Given the description of an element on the screen output the (x, y) to click on. 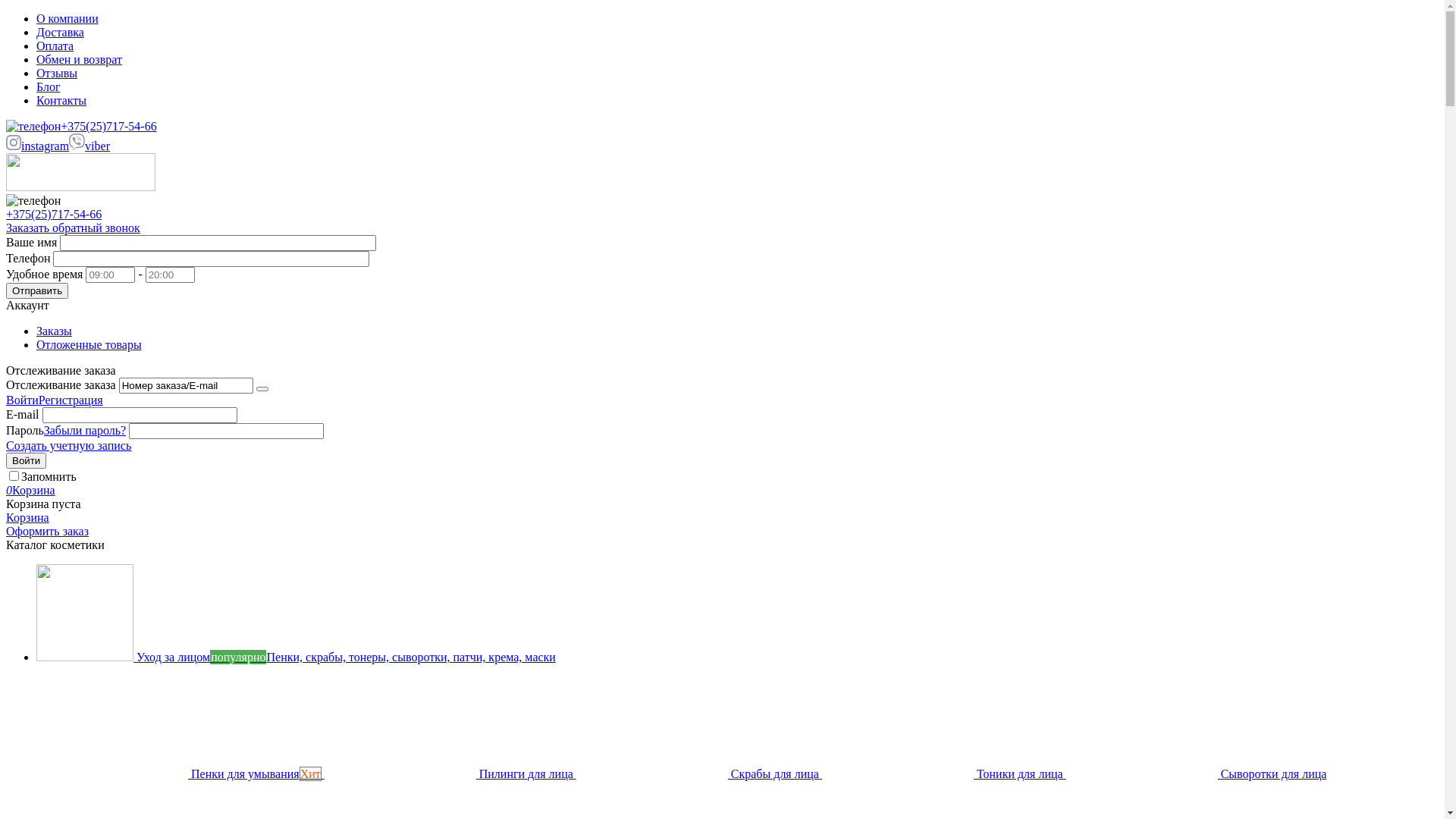
viber Element type: text (89, 145)
+375(25)717-54-66 Element type: text (53, 213)
+375(25)717-54-66 Element type: text (81, 125)
aloespace.by Element type: hover (80, 186)
instagram Element type: text (37, 145)
